Given the description of an element on the screen output the (x, y) to click on. 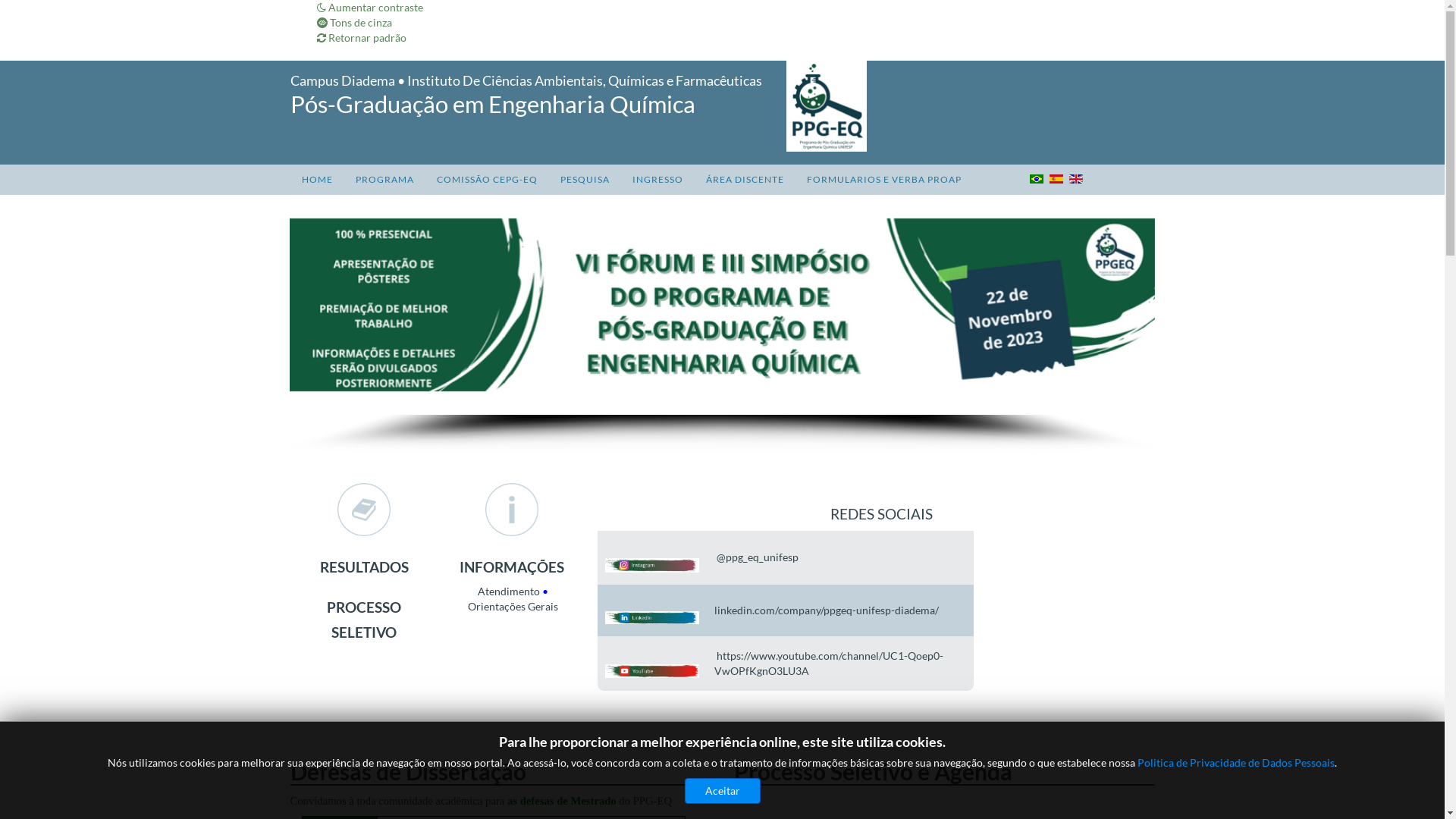
 https://www.youtube.com/channel/UC1-Qoep0-VwOPfKgnO3LU3A Element type: text (828, 663)
PROGRAMA Element type: text (384, 179)
Espanhol (ES) Element type: hover (1056, 178)
Tons de cinza Element type: text (354, 21)
FORMULARIOS E VERBA PROAP Element type: text (883, 179)
@ppg_eq_unifesp Element type: text (757, 556)
Politica de Privacidade de Dados Pessoais Element type: text (1235, 762)
HOME Element type: text (316, 179)
English (UK) Element type: hover (1075, 178)
INGRESSO Element type: text (656, 179)
 Atendimento  Element type: text (508, 590)
Aumentar contraste Element type: text (369, 6)
PESQUISA Element type: text (585, 179)
linkedin.com/company/ppgeq-unifesp-diadema/ Element type: text (826, 609)
